Given the description of an element on the screen output the (x, y) to click on. 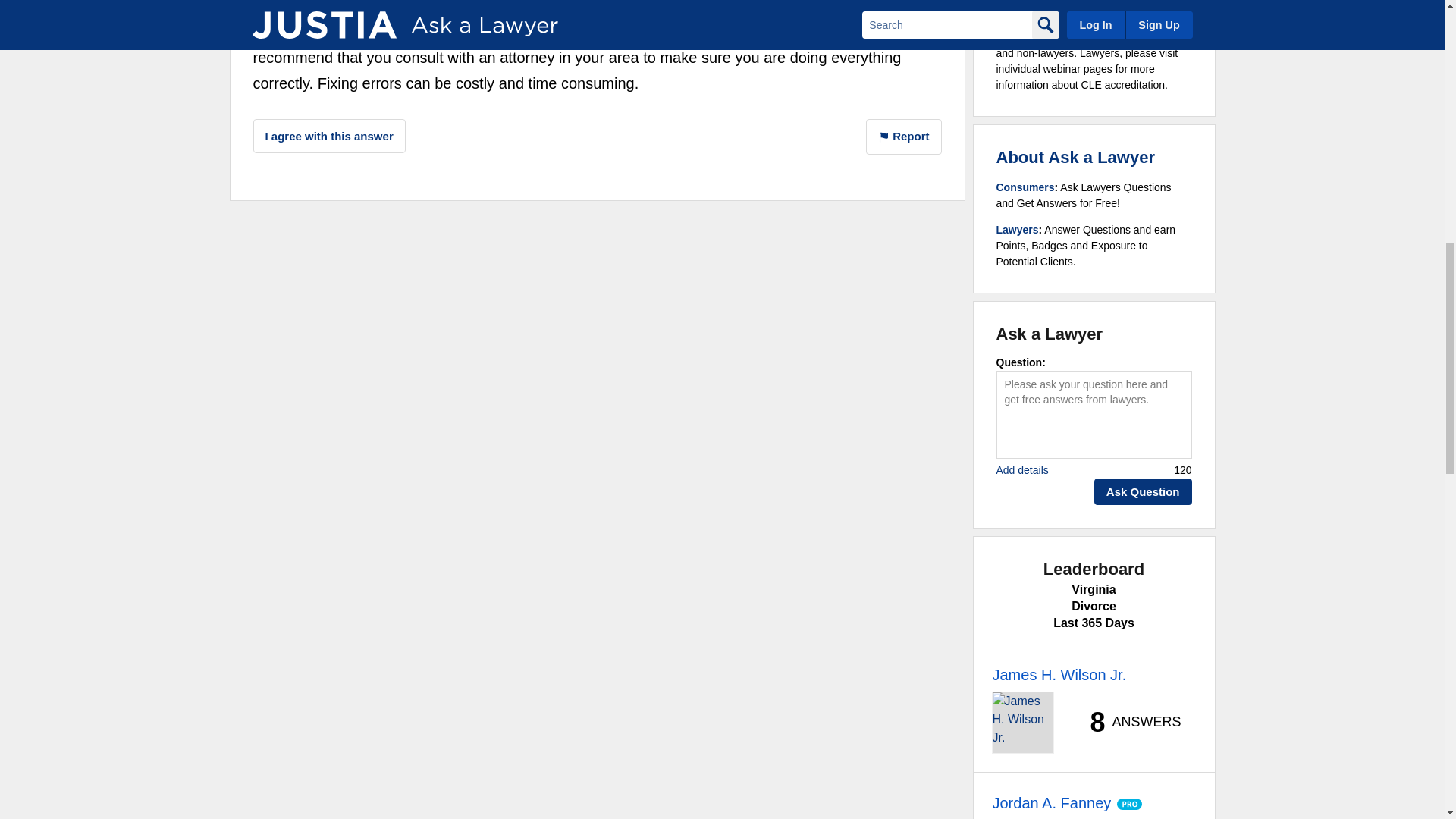
Ask a Lawyer - Leaderboard - Lawyer Photo (1021, 722)
Report (904, 136)
Ask a Lawyer - Leaderboard - Lawyer Name (1050, 802)
Ask a Lawyer - Leaderboard - Lawyer Name (1058, 674)
Ask a Lawyer - FAQs - Consumers (1024, 186)
I agree with this answer (329, 135)
Ask a Lawyer - FAQs - Lawyers (1017, 229)
Ask a Lawyer - Leaderboard - Lawyer Stats (1127, 722)
